Given the description of an element on the screen output the (x, y) to click on. 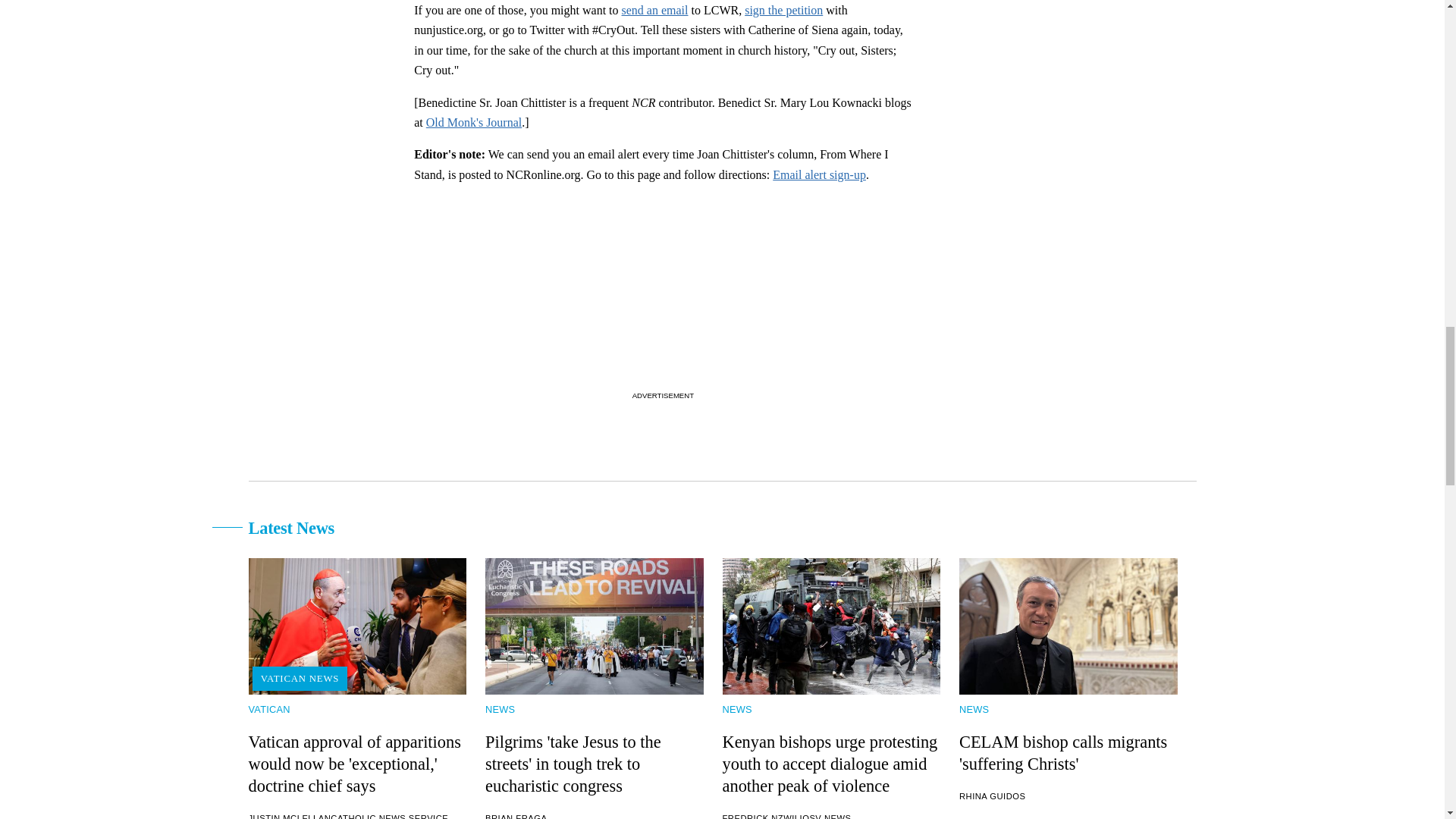
3rd party ad content (662, 291)
